Given the description of an element on the screen output the (x, y) to click on. 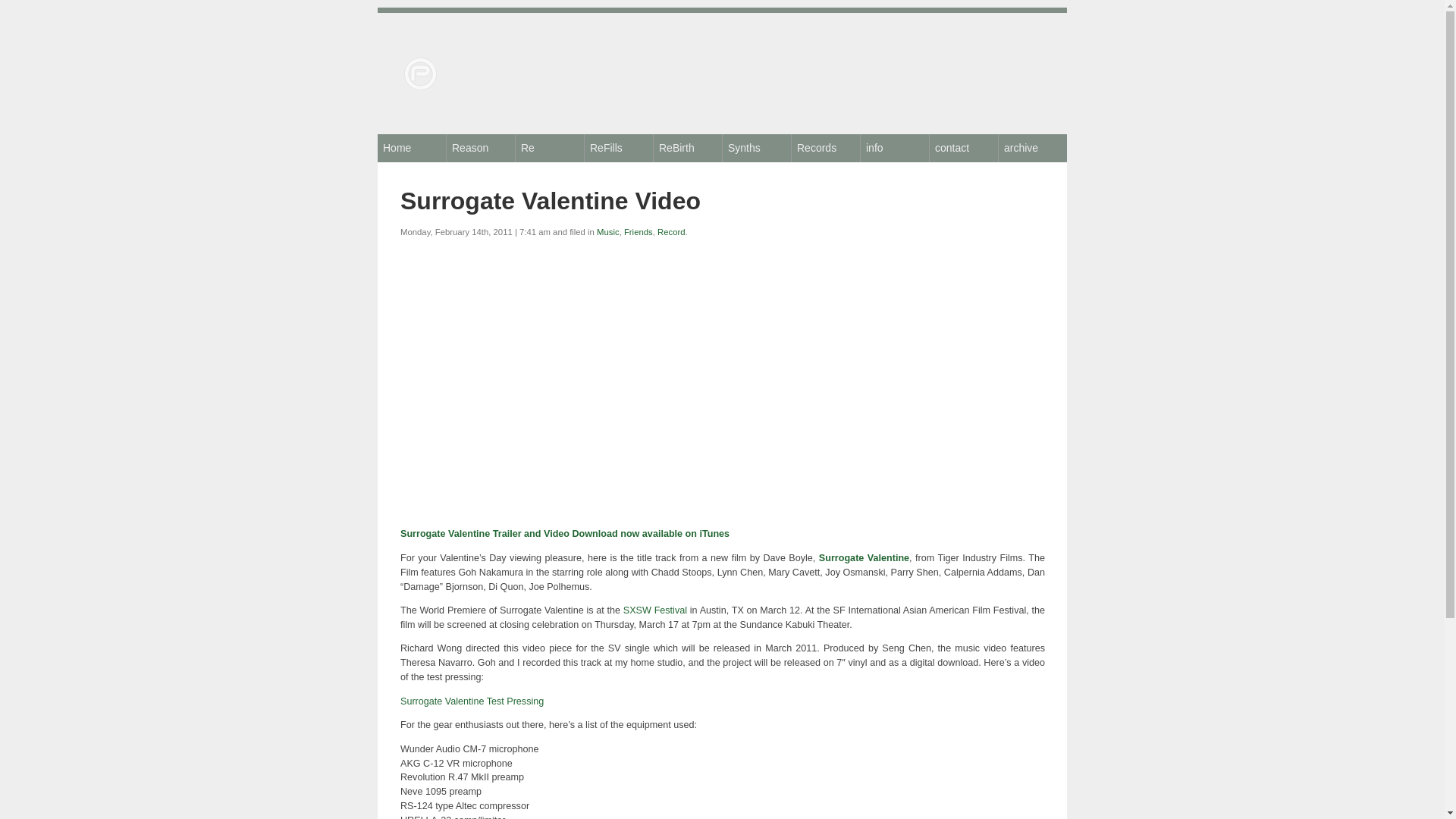
Music (608, 231)
ReFills (618, 147)
Surrogate Valentine Video (550, 200)
Home (411, 147)
archive (1032, 147)
info (894, 147)
Surrogate Valentine Test Pressing (471, 701)
ReBirth (687, 147)
Reason (480, 147)
contact (963, 147)
SXSW Festival (655, 610)
Friends (638, 231)
Re (549, 147)
Surrogate Valentine (863, 557)
Records (826, 147)
